Given the description of an element on the screen output the (x, y) to click on. 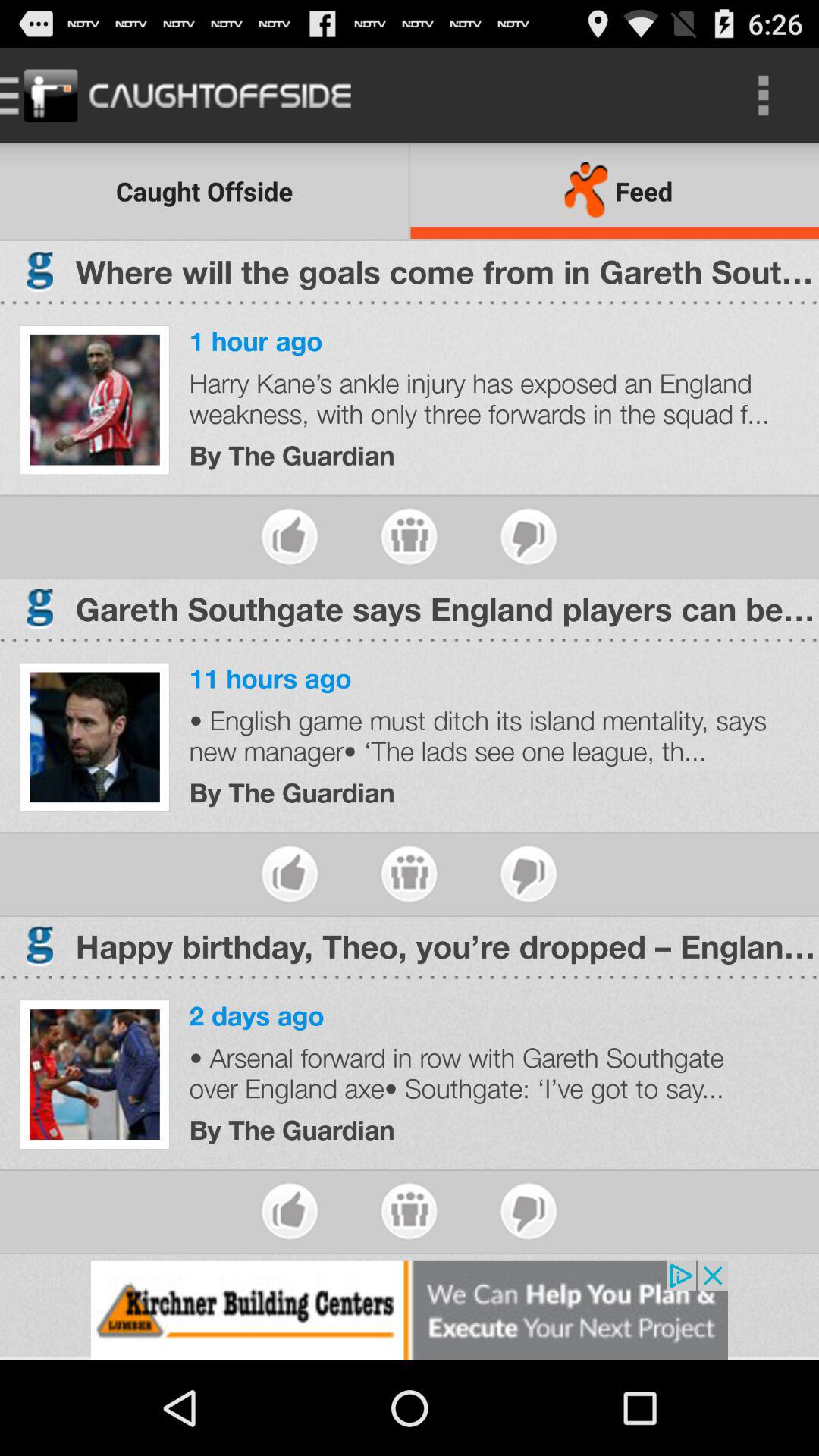
select to dislike (528, 536)
